Given the description of an element on the screen output the (x, y) to click on. 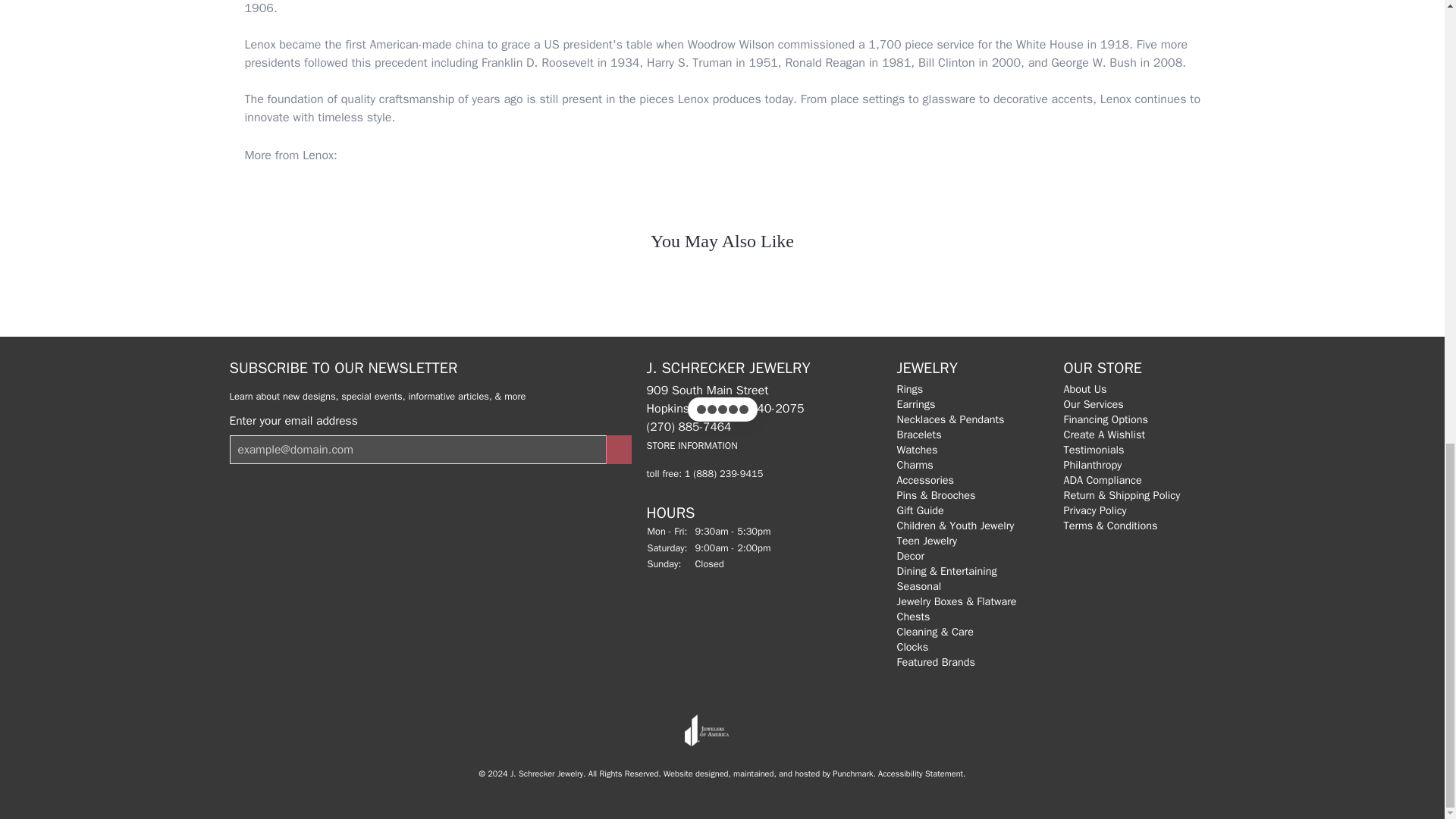
Jewelers of America (706, 730)
Enter your email address to subscribe (416, 449)
